Given the description of an element on the screen output the (x, y) to click on. 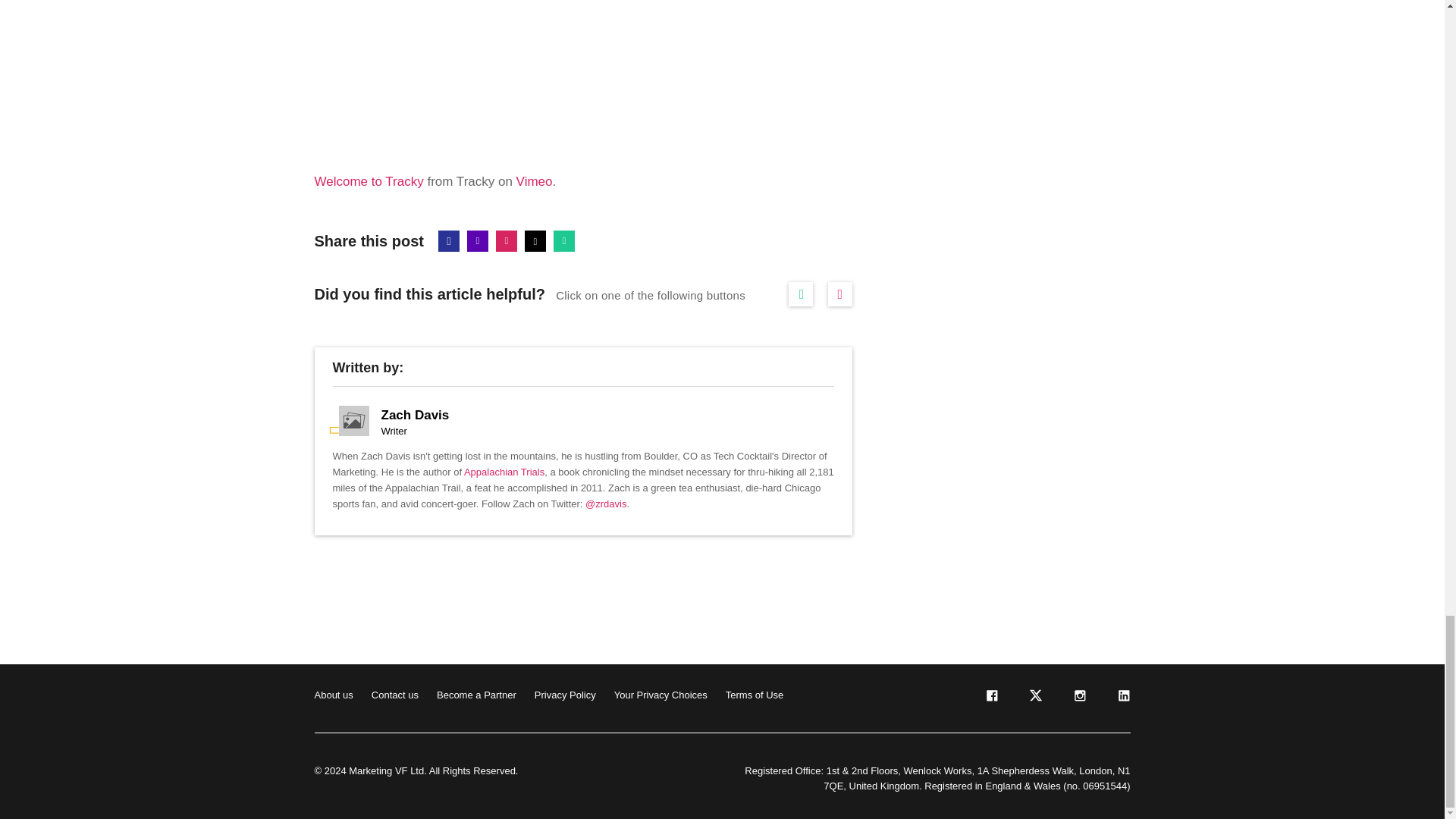
instagram (1078, 698)
linkedin (1122, 698)
twitter-x (1034, 698)
facebook (990, 698)
Whatsapp (564, 240)
Flipboard (506, 240)
Twitter-x (535, 240)
Facebook (449, 240)
Linkedin (477, 240)
